Given the description of an element on the screen output the (x, y) to click on. 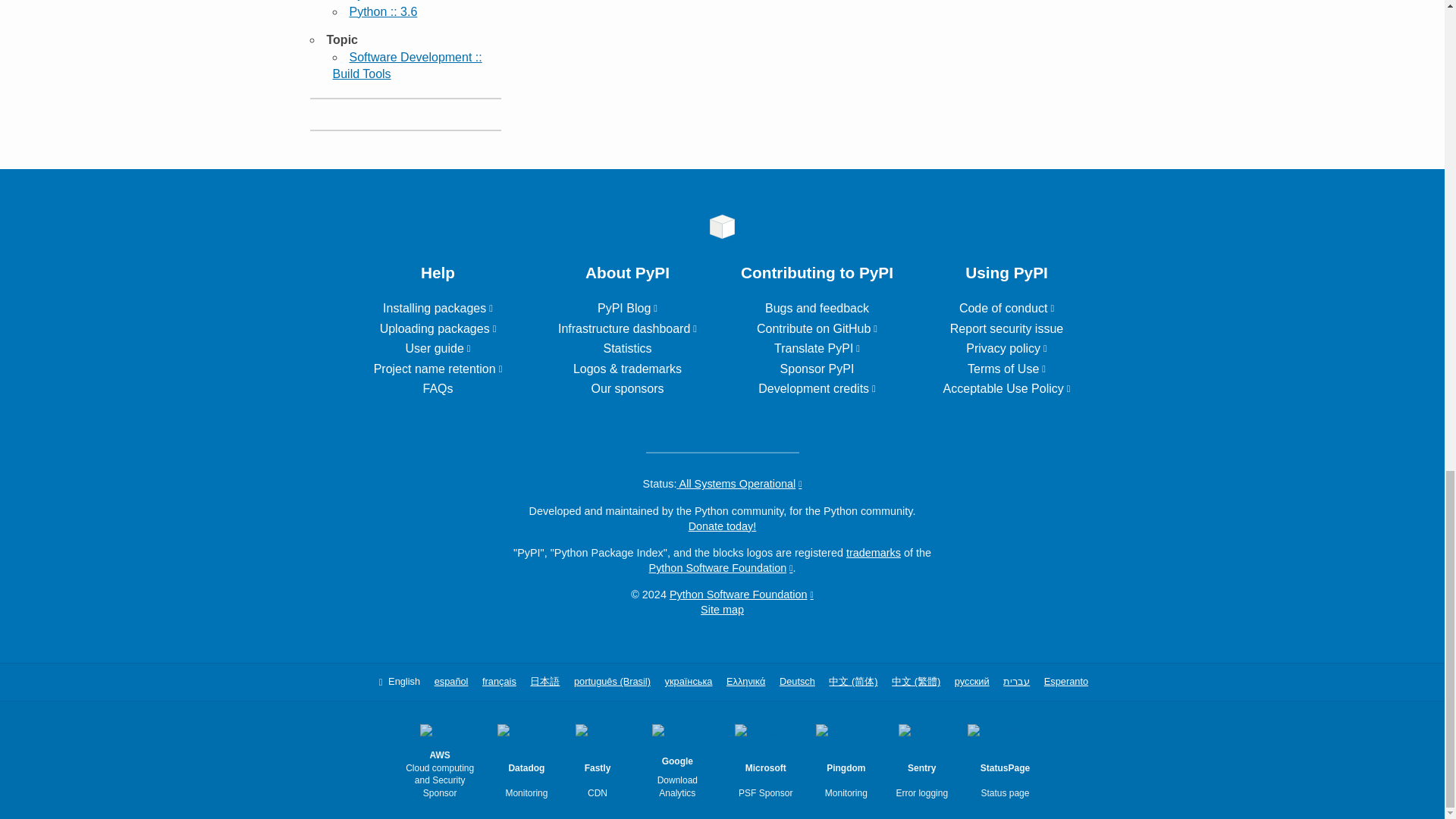
Python :: 3.5 (382, 0)
Python :: 3.6 (382, 11)
Software Development :: Build Tools (406, 65)
External link (437, 308)
External link (437, 348)
External link (438, 368)
External link (438, 328)
